Given the description of an element on the screen output the (x, y) to click on. 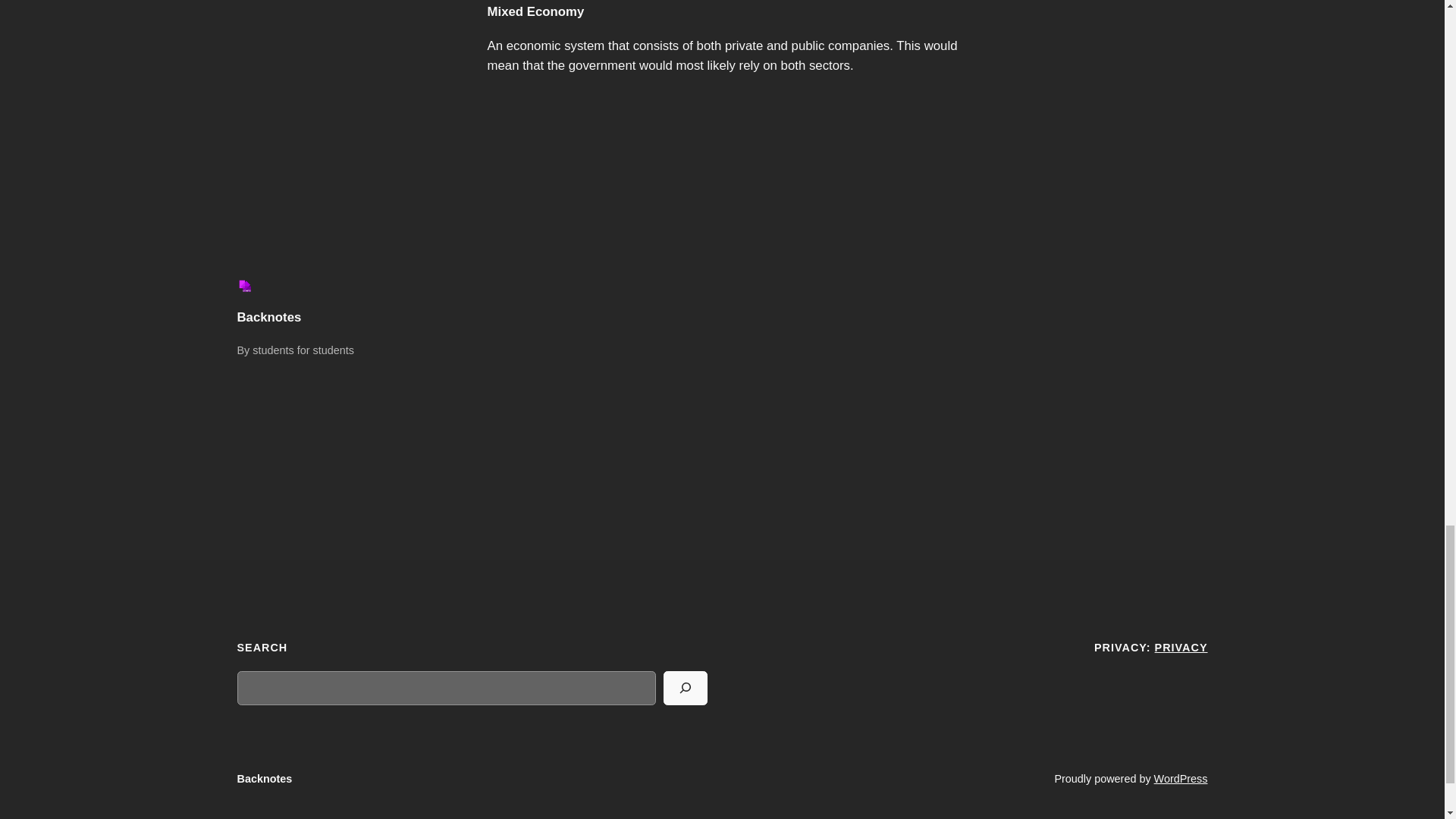
PRIVACY (1181, 647)
WordPress (1181, 778)
Backnotes (268, 317)
Backnotes (263, 778)
